Given the description of an element on the screen output the (x, y) to click on. 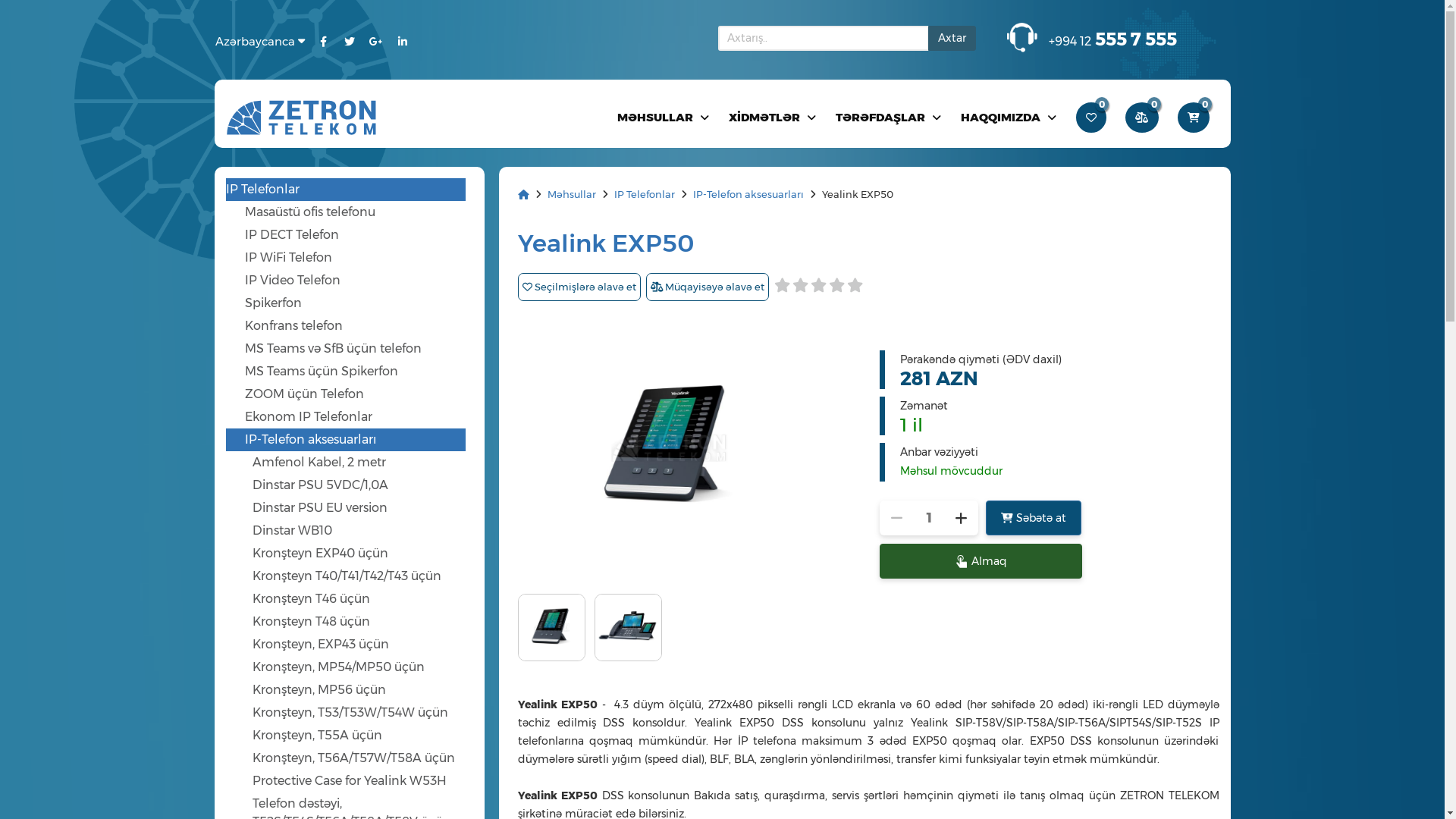
IP Video Telefon Element type: text (354, 280)
IP DECT Telefon Element type: text (354, 234)
Amfenol Kabel, 2 metr Element type: text (357, 462)
Dinstar PSU EU version Element type: text (357, 507)
Konfrans telefon Element type: text (354, 325)
Ekonom IP Telefonlar Element type: text (354, 416)
Dinstar PSU 5VDC/1,0A Element type: text (357, 484)
HAQQIMIZDA Element type: text (1009, 116)
0 Element type: text (1091, 116)
IP Telefonlar Element type: text (645, 194)
Spikerfon Element type: text (354, 302)
Dinstar WB10 Element type: text (357, 530)
Protective Case for Yealink W53H Element type: text (357, 780)
Axtar Element type: text (951, 37)
Almaq Element type: text (980, 560)
IP Telefonlar Element type: text (345, 189)
+994 12 555 7 555 Element type: text (1112, 39)
IP WiFi Telefon Element type: text (354, 257)
0 Element type: text (1193, 116)
0 Element type: text (1142, 116)
